Given the description of an element on the screen output the (x, y) to click on. 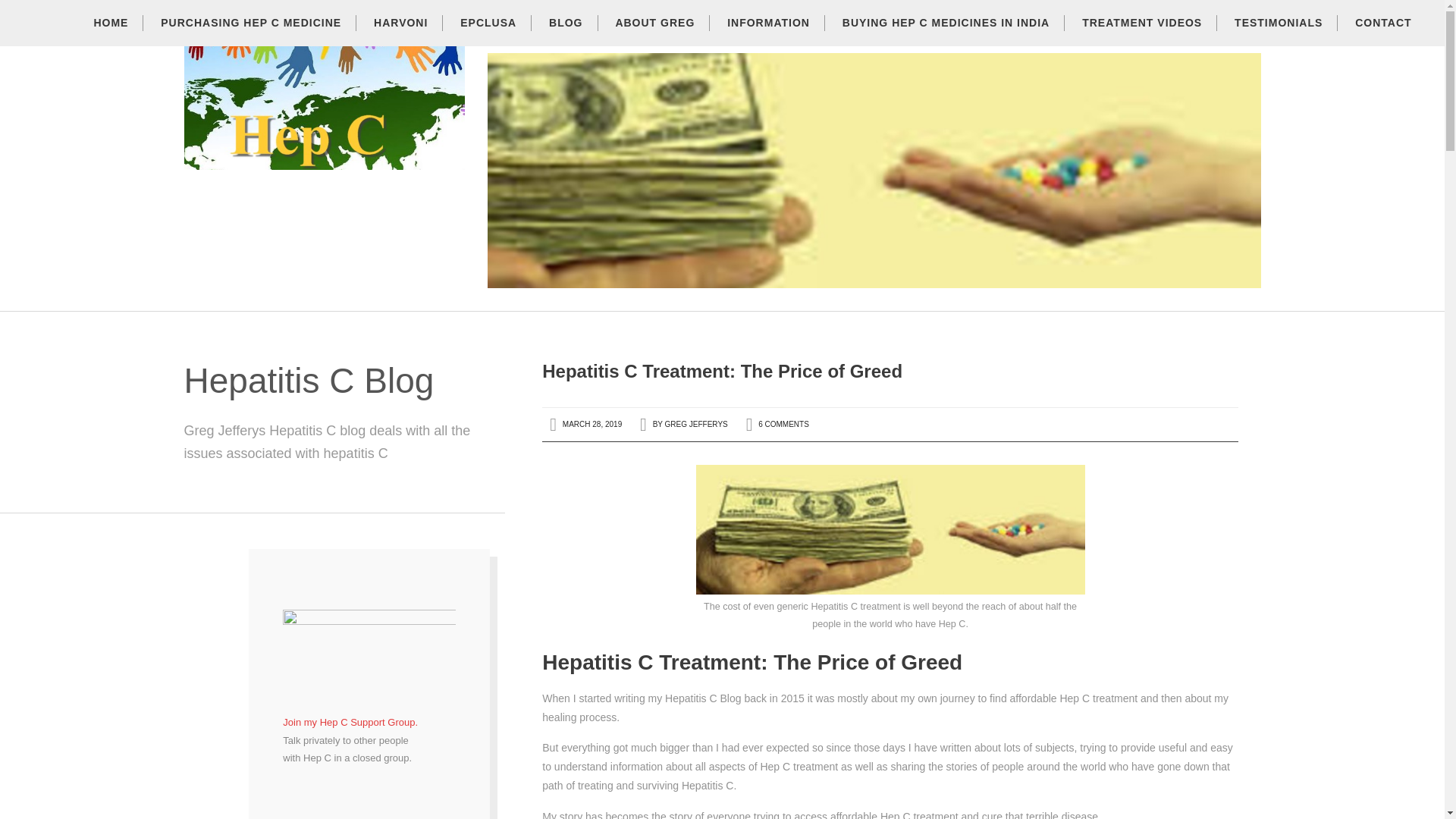
EPCLUSA (488, 34)
BLOG (565, 34)
INFORMATION (768, 34)
ABOUT GREG (654, 34)
CONTACT (1382, 34)
PURCHASING HEP C MEDICINE (251, 34)
Hepatitis C Treatment (323, 160)
HOME (110, 34)
TESTIMONIALS (1278, 34)
HARVONI (400, 34)
